Given the description of an element on the screen output the (x, y) to click on. 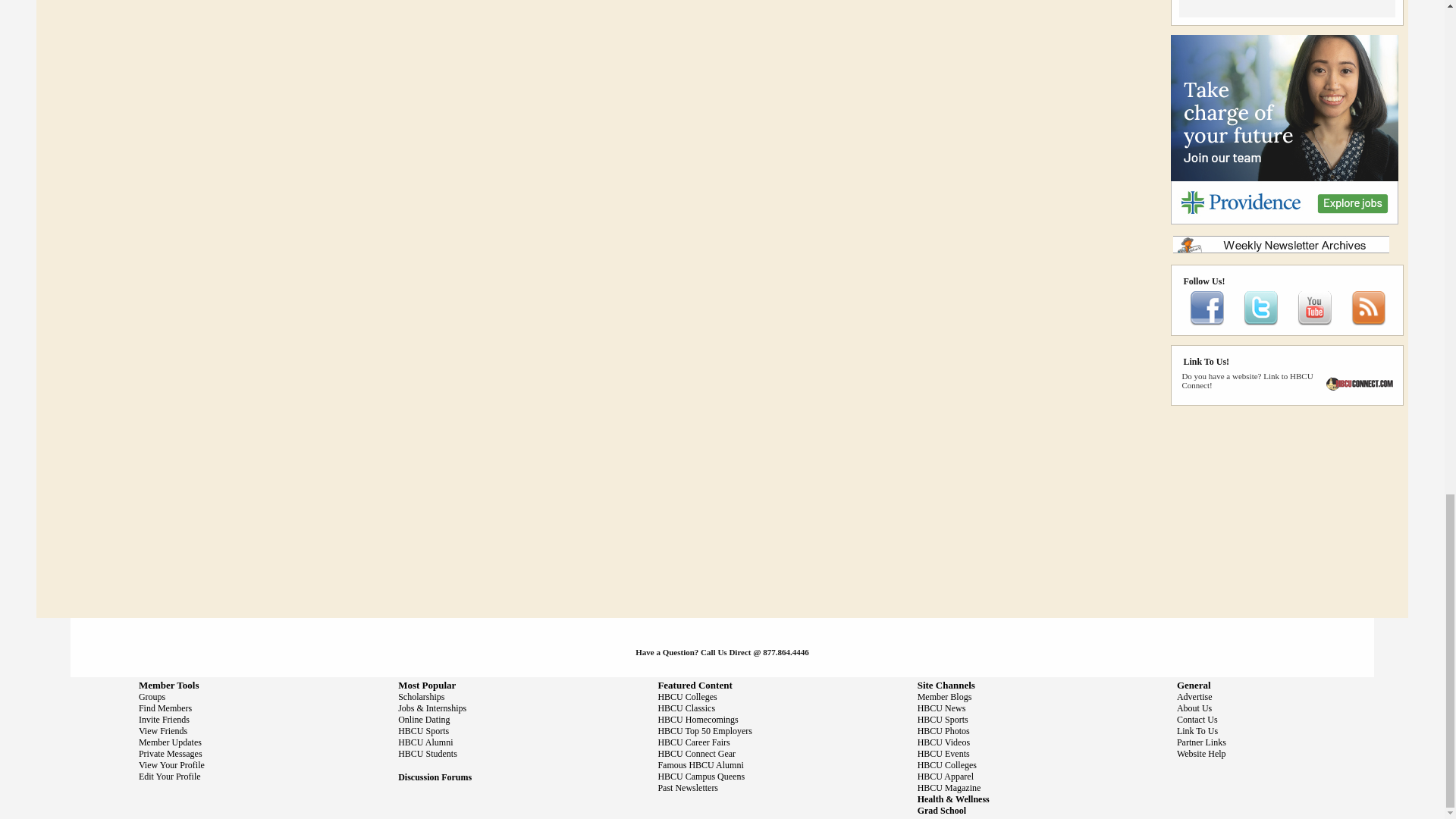
Follow us on Twitter! (1260, 321)
Follow us via RSS! (1368, 321)
Follow us on Facebook! (1206, 321)
Follow us on YouTube! (1314, 321)
